Given the description of an element on the screen output the (x, y) to click on. 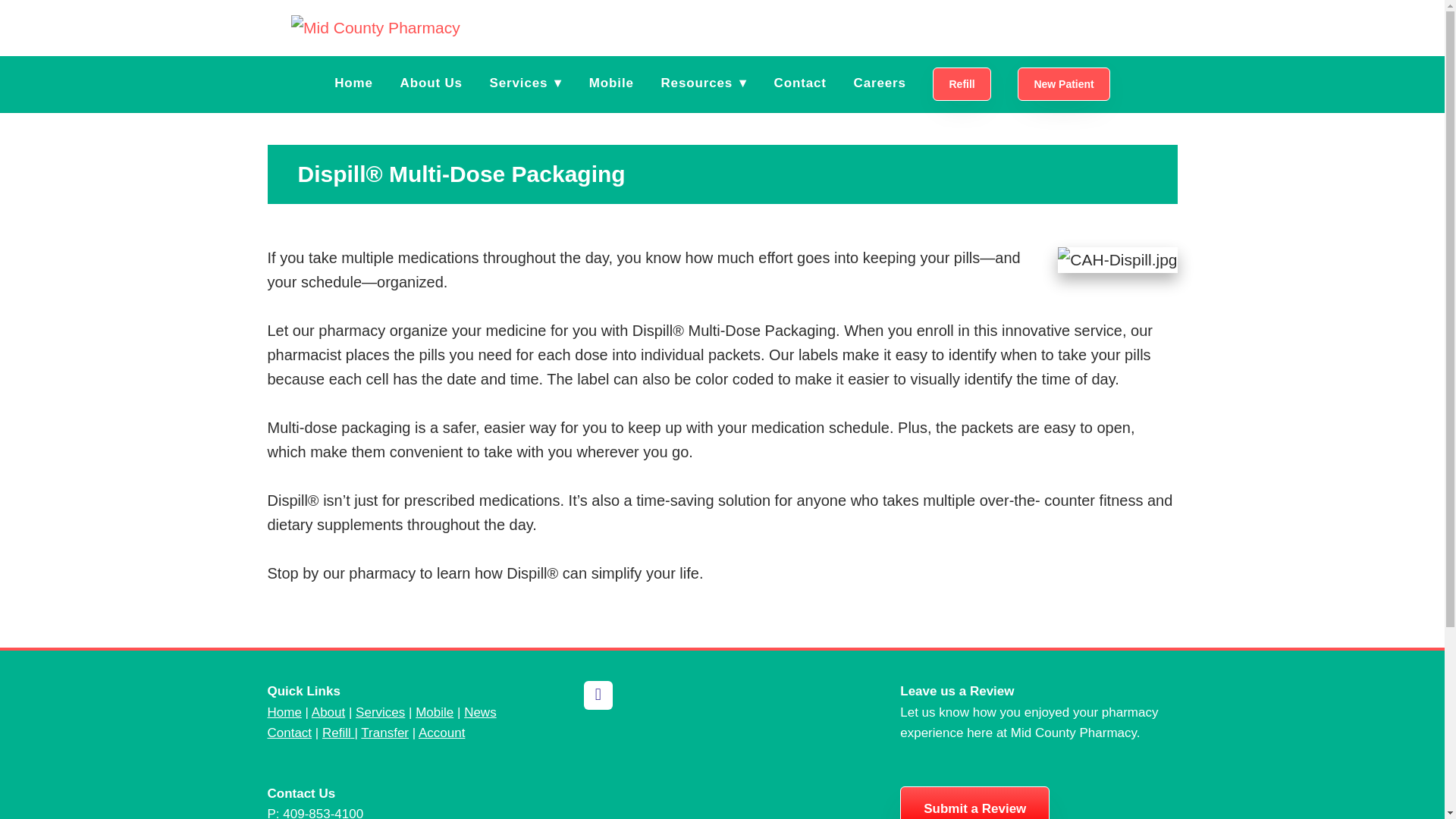
About (328, 712)
409-853-4100 (322, 812)
News (480, 712)
Account (441, 732)
Refill (961, 83)
New Patient (1063, 83)
Services (379, 712)
Submit a Review (974, 802)
Transfer (385, 732)
Contact (288, 732)
